Given the description of an element on the screen output the (x, y) to click on. 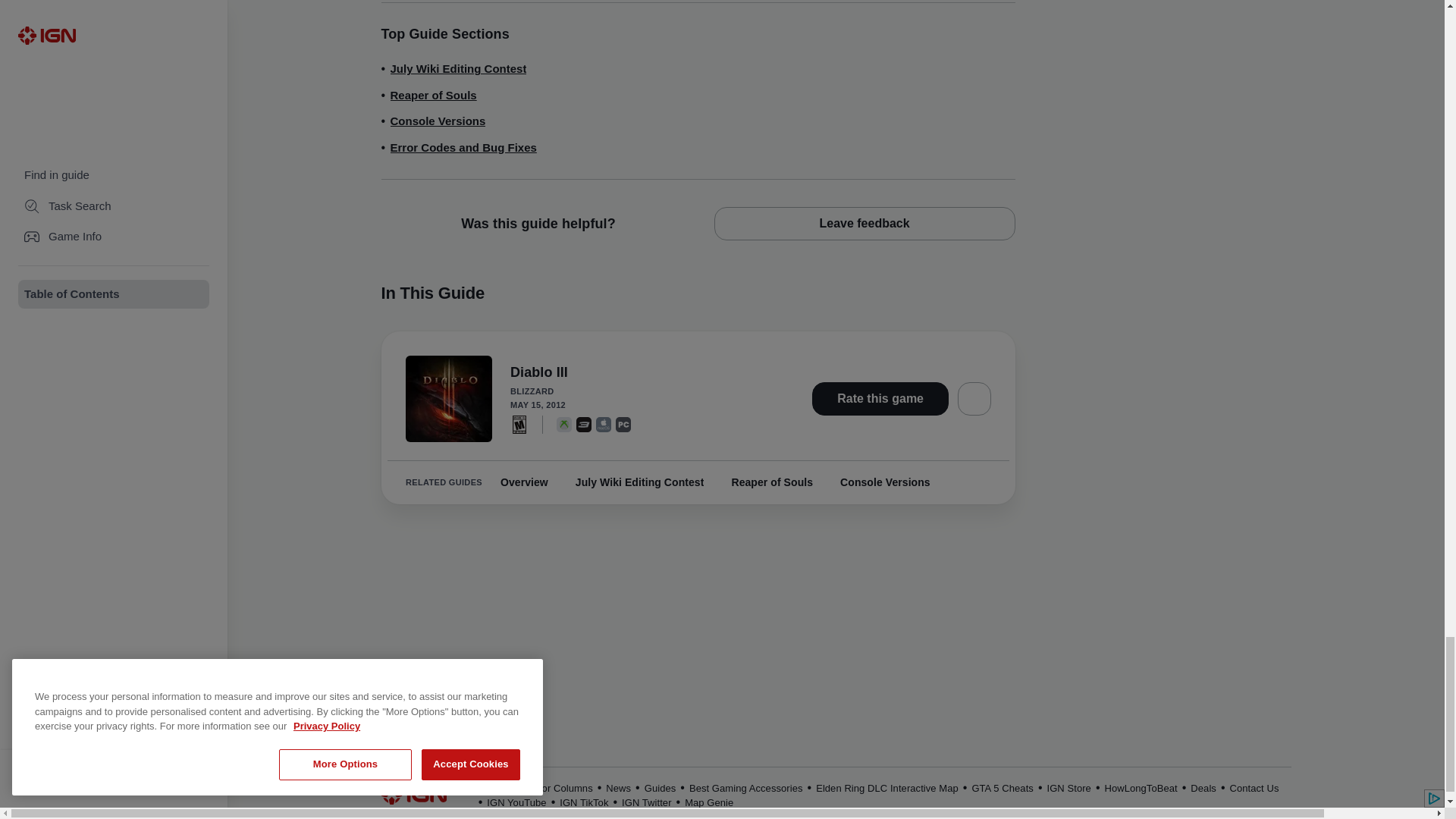
PlayStation 3 (583, 423)
Macintosh (603, 423)
Xbox 360 (564, 423)
PC (622, 423)
ESRB: Mature (518, 423)
